Given the description of an element on the screen output the (x, y) to click on. 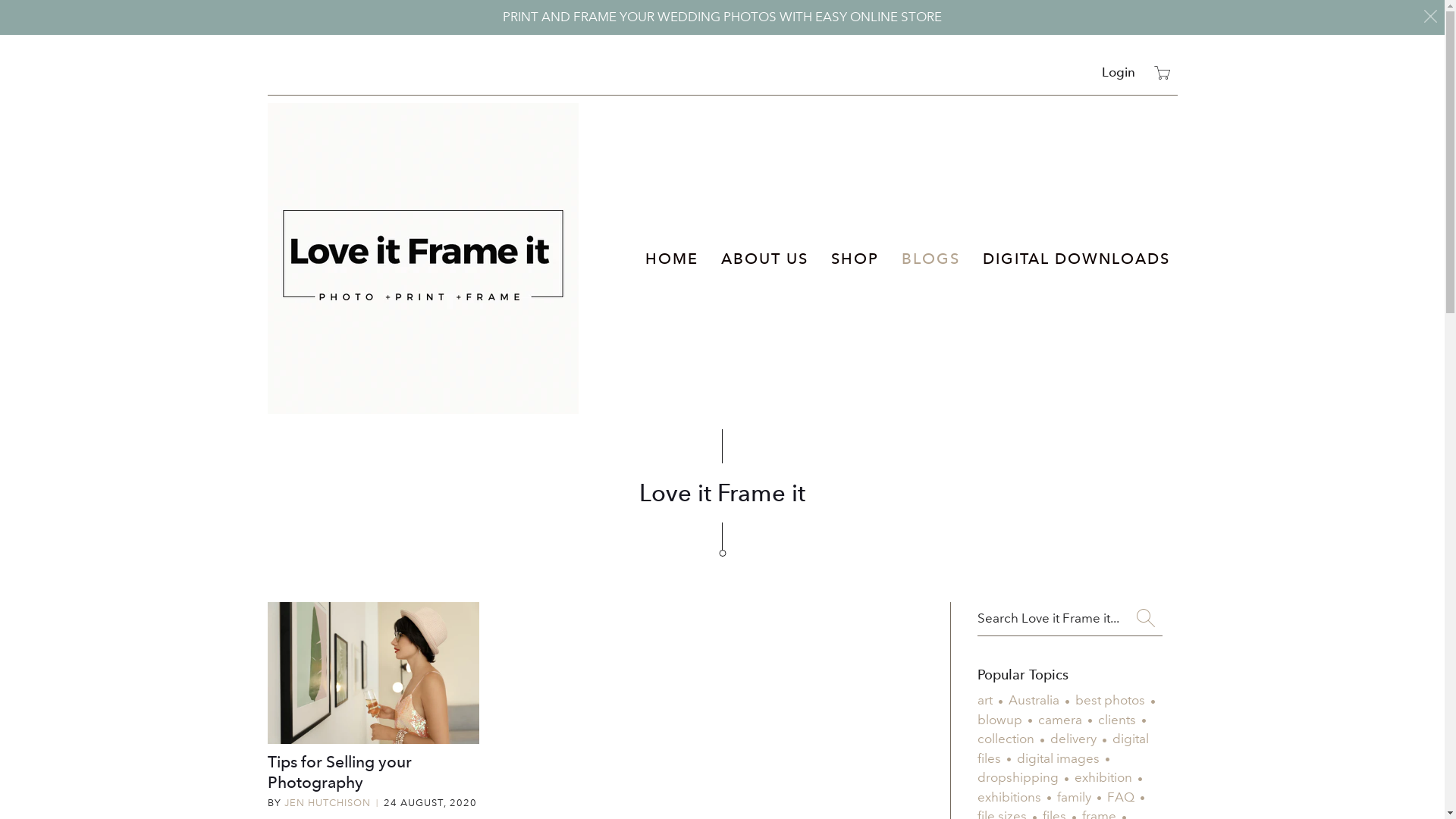
DIGITAL DOWNLOADS Element type: text (1076, 258)
BLOGS Element type: text (929, 258)
ABOUT US Element type: text (763, 258)
Translation missing: en.layout.general.title Element type: text (1161, 71)
Login Element type: text (1117, 71)
Tips for Selling your Photography Element type: text (338, 771)
JEN HUTCHISON Element type: text (326, 803)
SHOP Element type: text (854, 258)
HOME Element type: text (671, 258)
